Given the description of an element on the screen output the (x, y) to click on. 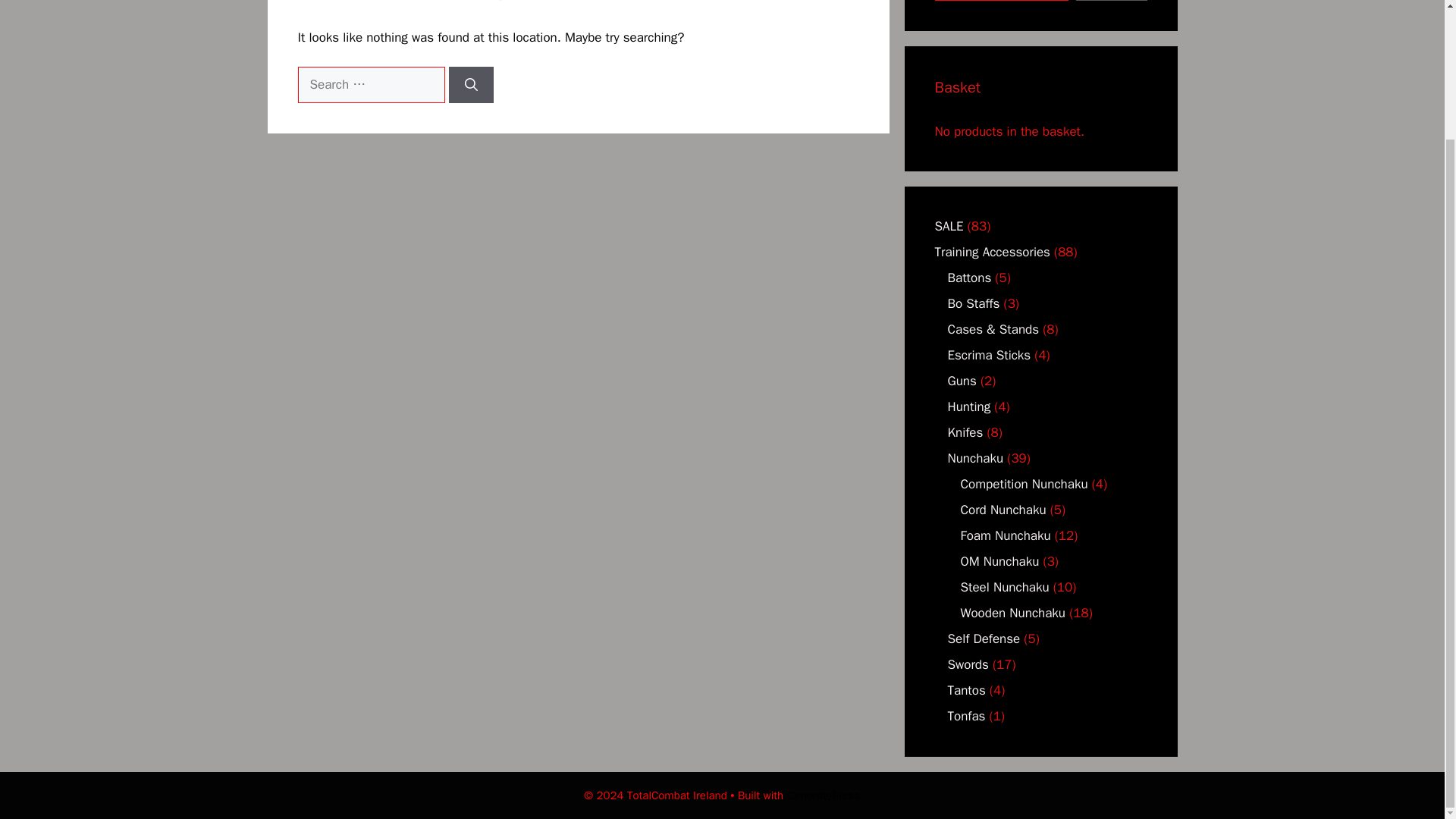
OM Nunchaku (999, 561)
Tantos (966, 690)
Swords (967, 664)
Wooden Nunchaku (1012, 612)
Search (1111, 0)
Nunchaku (975, 458)
Foam Nunchaku (1004, 535)
Tonfas (966, 715)
Steel Nunchaku (1003, 587)
Escrima Sticks (988, 355)
